Given the description of an element on the screen output the (x, y) to click on. 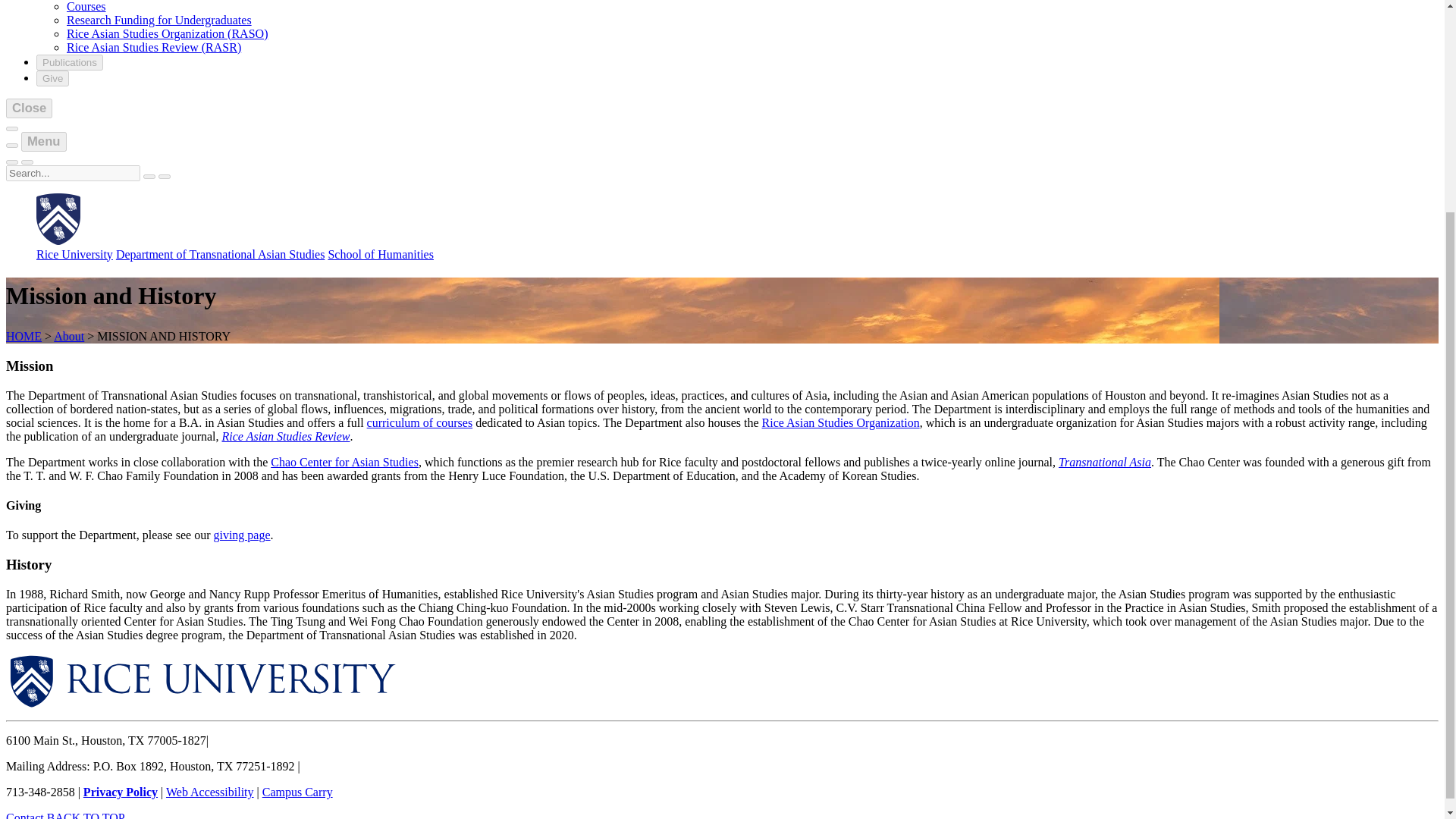
Social Menu (11, 128)
Close (28, 107)
Search (148, 176)
Close (27, 161)
School of Humanities (380, 254)
Research Funding for Undergraduates (158, 19)
Rice Asian Studies Review (285, 436)
Publications (69, 62)
Department of Transnational Asian Studies (220, 254)
curriculum of courses (419, 422)
Mobile Menu (11, 161)
Courses (86, 6)
Rice University Shield (58, 240)
Menu (43, 141)
Rice University (74, 254)
